Given the description of an element on the screen output the (x, y) to click on. 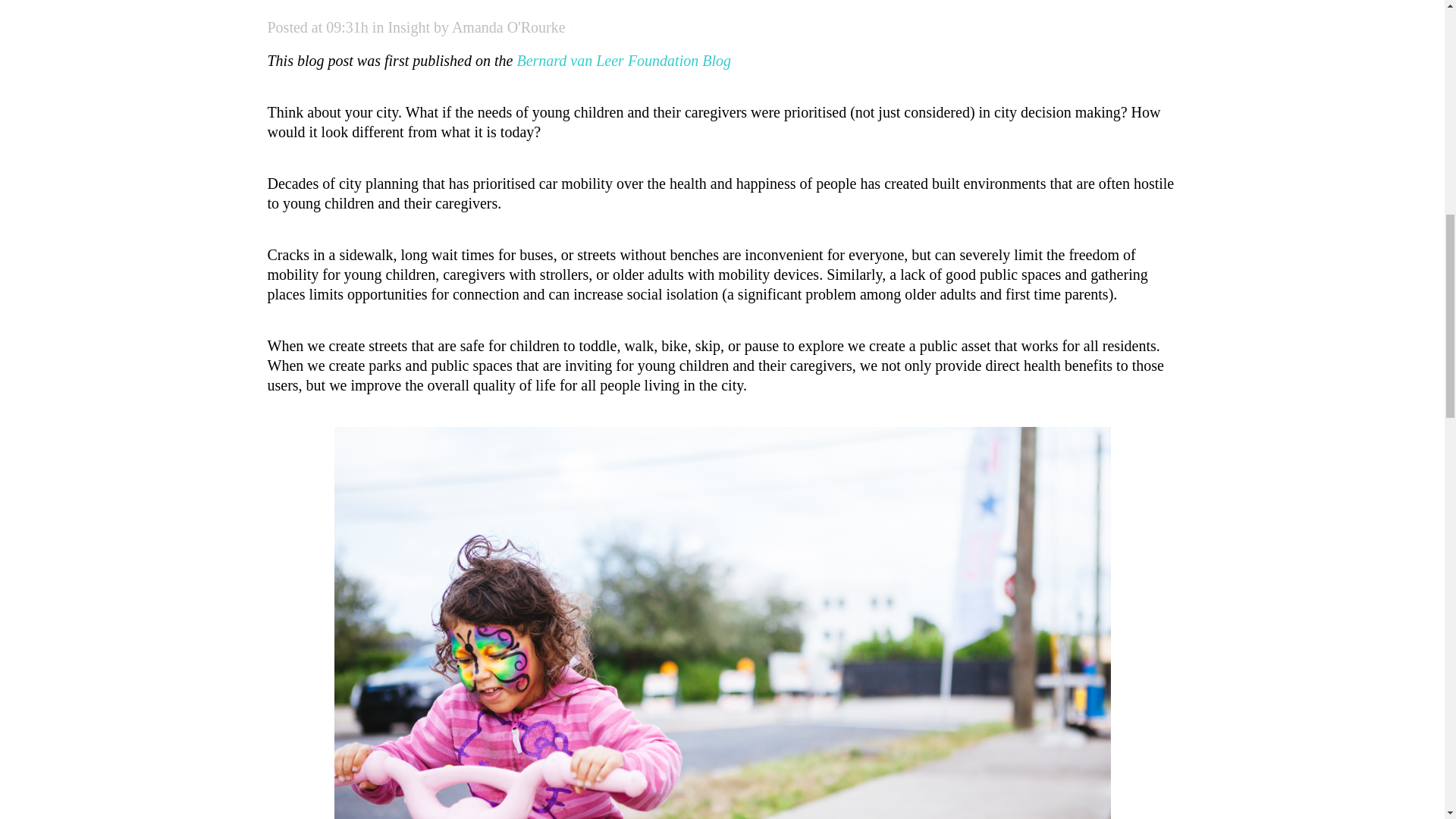
Blog (715, 60)
Insight (408, 27)
Bernard van Leer Foundation (607, 60)
Amanda O'Rourke (508, 27)
